Given the description of an element on the screen output the (x, y) to click on. 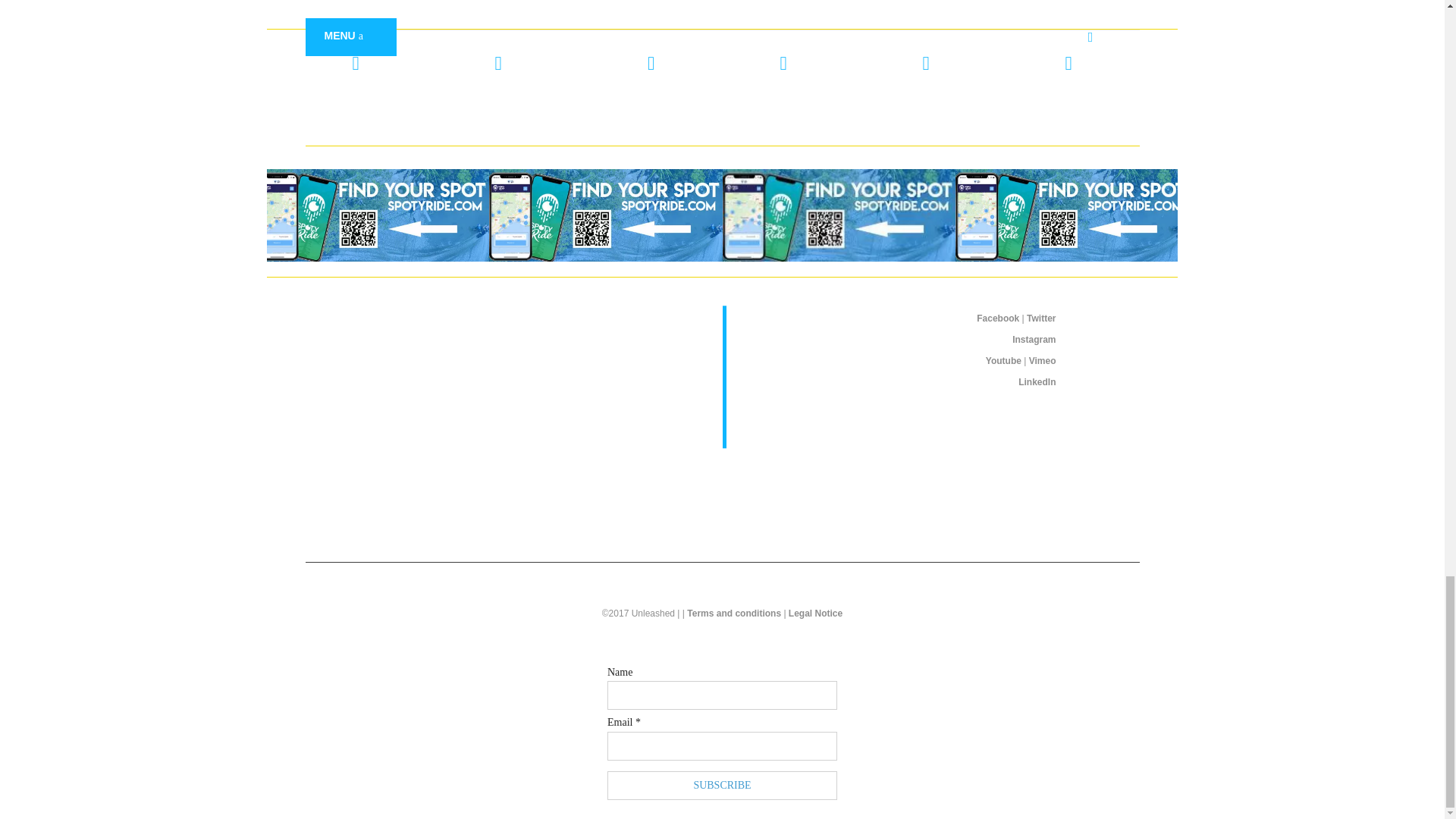
SUBSCRIBE (722, 785)
